Given the description of an element on the screen output the (x, y) to click on. 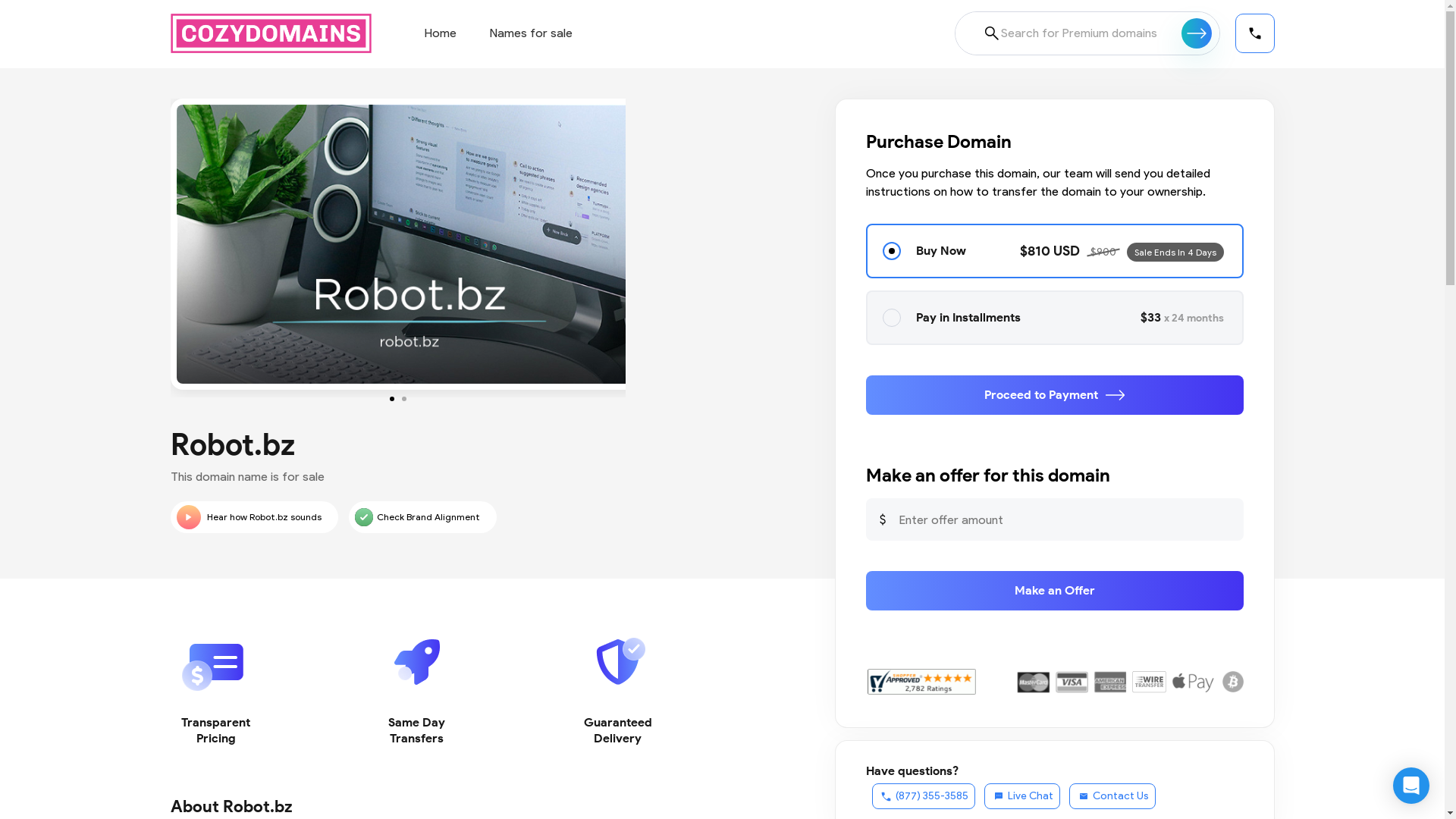
(877) 355-3585 Element type: text (923, 796)
Home Element type: text (440, 33)
Live Chat Element type: text (1022, 796)
Buy Now
$810 USD $900 Sale Ends In 4 Days Element type: text (1054, 250)
Hear how Robot.bz sounds Element type: text (253, 517)
Check Brand Alignment Element type: text (422, 517)
Names for sale Element type: text (530, 33)
Contact Us Element type: text (1112, 796)
Make an Offer Element type: text (1054, 590)
Proceed to Payment Element type: text (1054, 394)
